Given the description of an element on the screen output the (x, y) to click on. 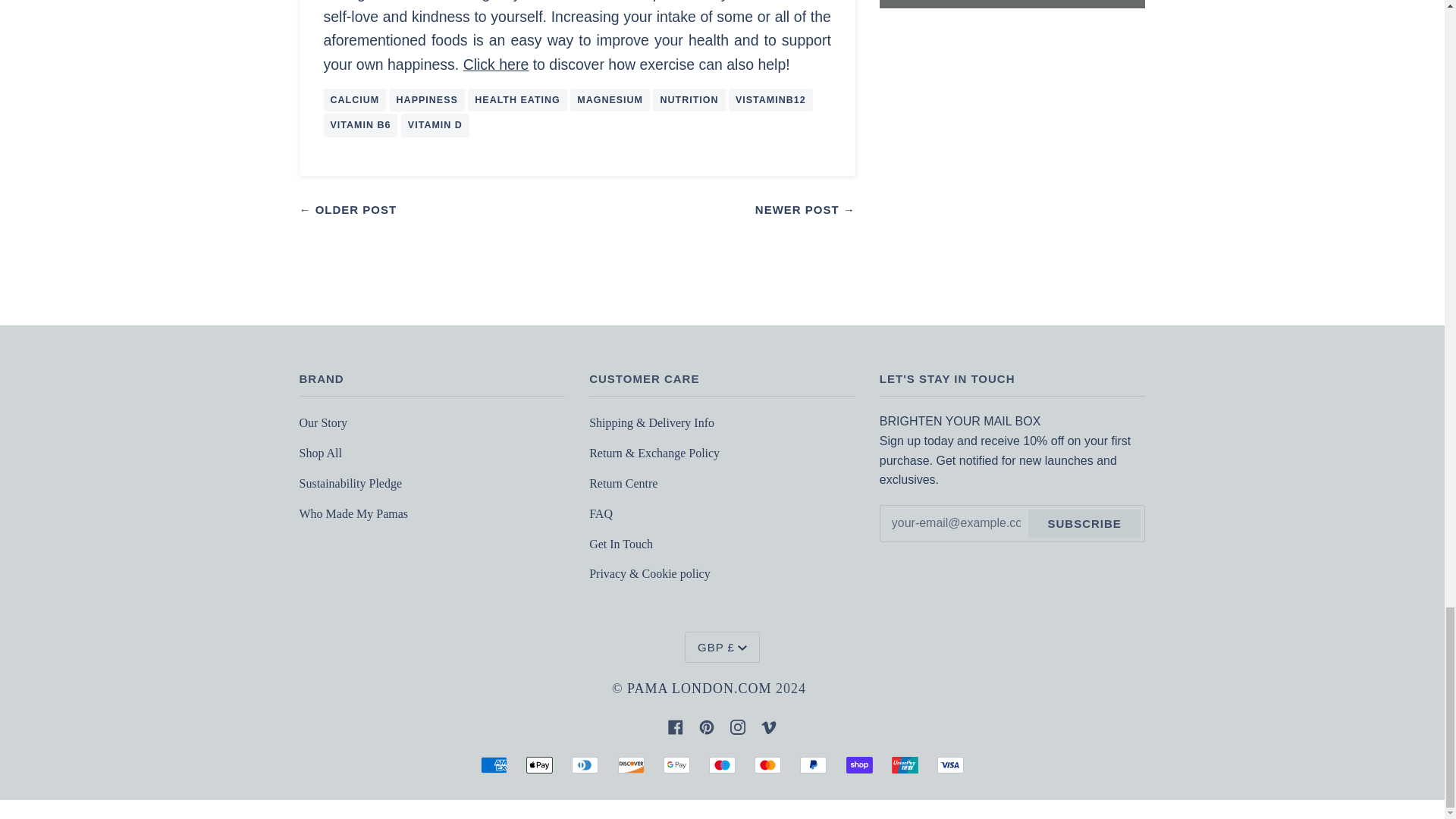
Pinterest (706, 725)
PAYPAL (813, 764)
DISCOVER (631, 764)
MAESTRO (722, 764)
APPLE PAY (539, 764)
Vimeo (768, 725)
SHOP PAY (858, 764)
DINERS CLUB (585, 764)
VISA (950, 764)
UNION PAY (904, 764)
